Given the description of an element on the screen output the (x, y) to click on. 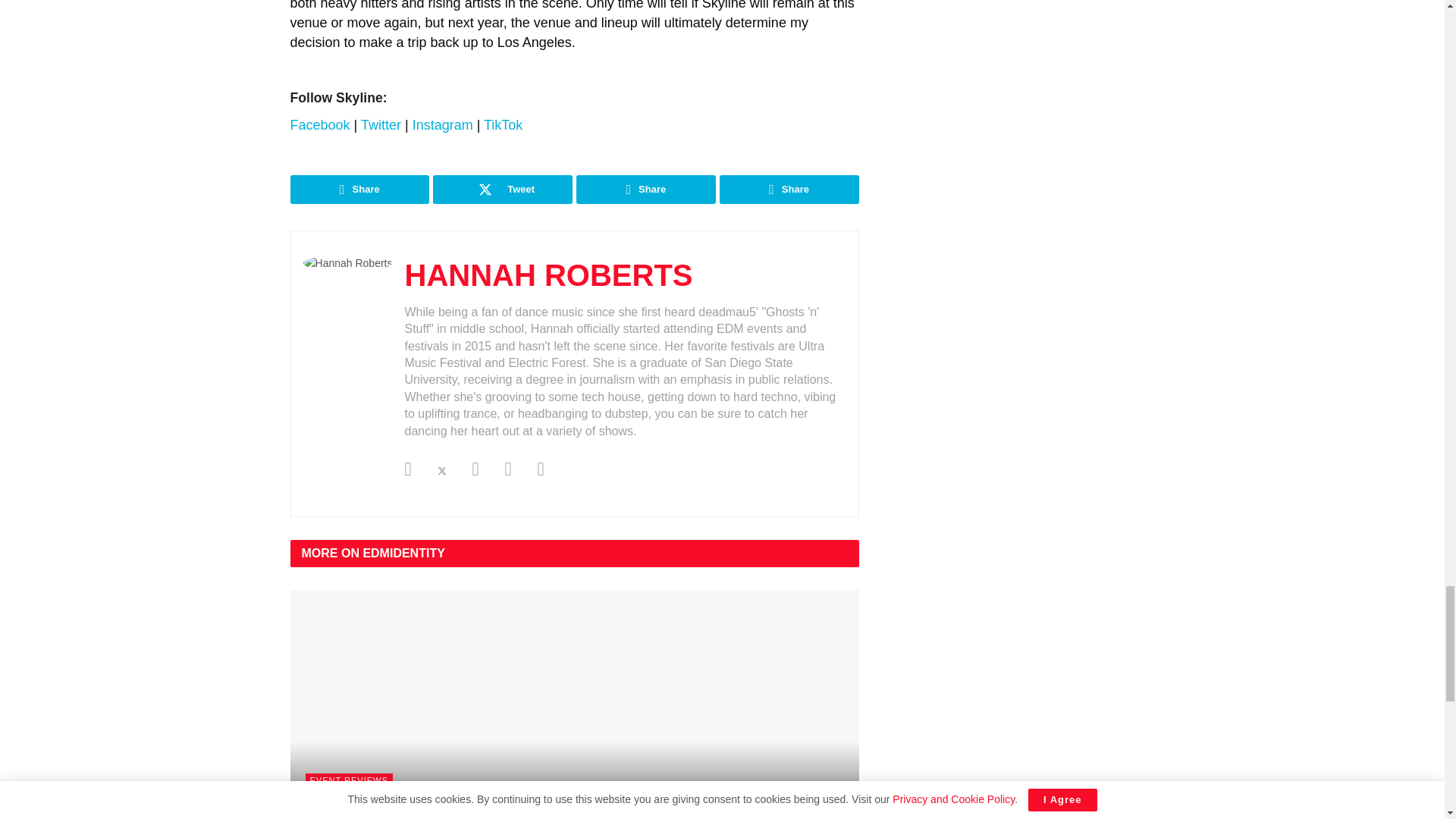
Twitter  (382, 124)
Share (646, 189)
Instagram (442, 124)
Facebook (319, 124)
Tweet (502, 189)
TikTok (502, 124)
Share (359, 189)
